Given the description of an element on the screen output the (x, y) to click on. 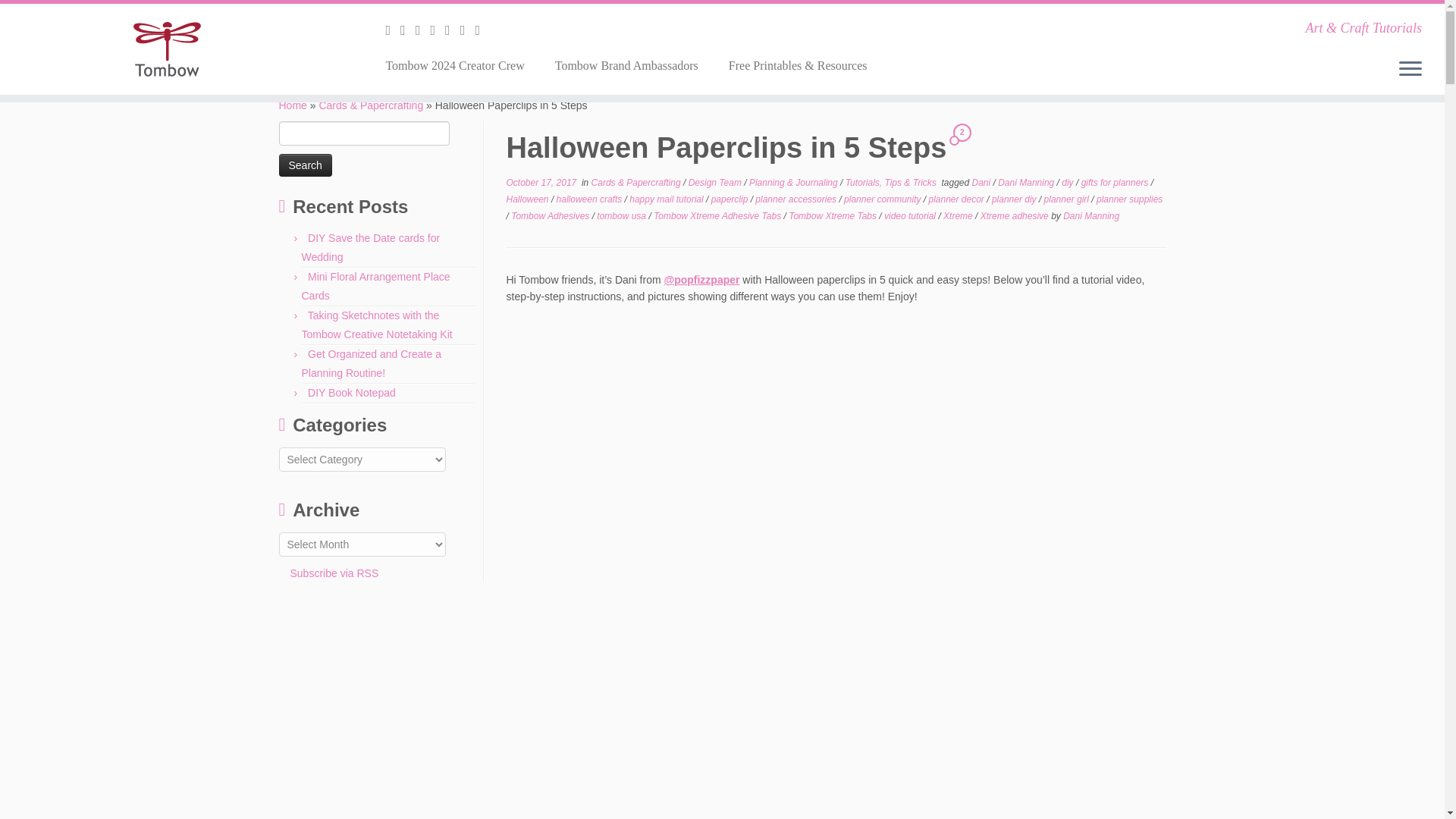
Design Team (716, 182)
Tombow USA Blog (293, 105)
Follow me on Instagram (437, 29)
Halloween (528, 199)
Tombow Brand Ambassadors (626, 65)
Taking Sketchnotes with the Tombow Creative Notetaking Kit (376, 324)
Follow me on Tumblr (452, 29)
Mini Floral Arrangement Place Cards (375, 286)
gifts for planners (1116, 182)
happy mail tutorial (667, 199)
Tombow 2024 Creator Crew (459, 65)
Search (305, 164)
E-mail (392, 29)
DIY Book Notepad (351, 392)
paperclip (731, 199)
